Given the description of an element on the screen output the (x, y) to click on. 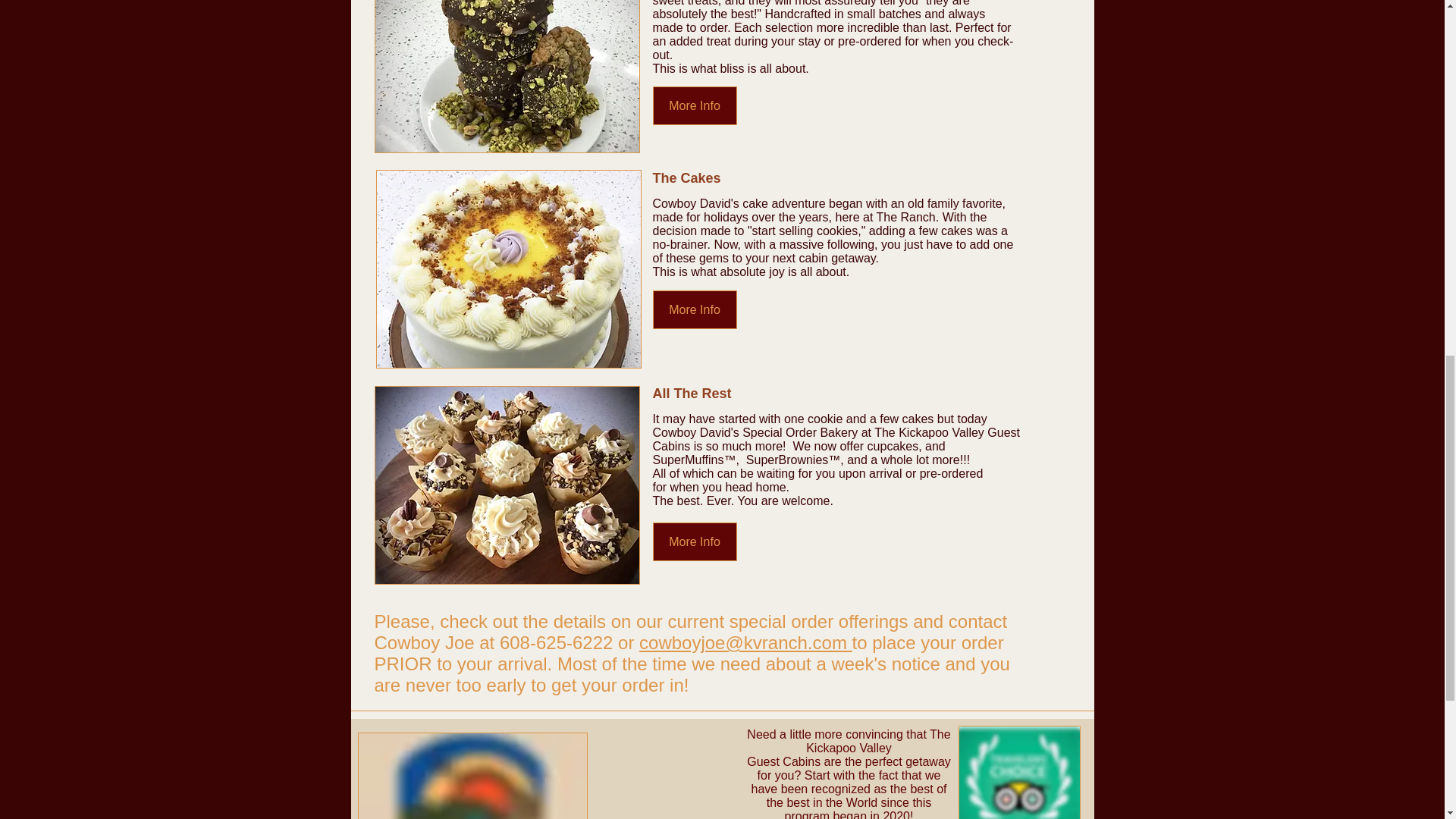
More Info (694, 309)
More Info (694, 541)
More Info (694, 105)
